Given the description of an element on the screen output the (x, y) to click on. 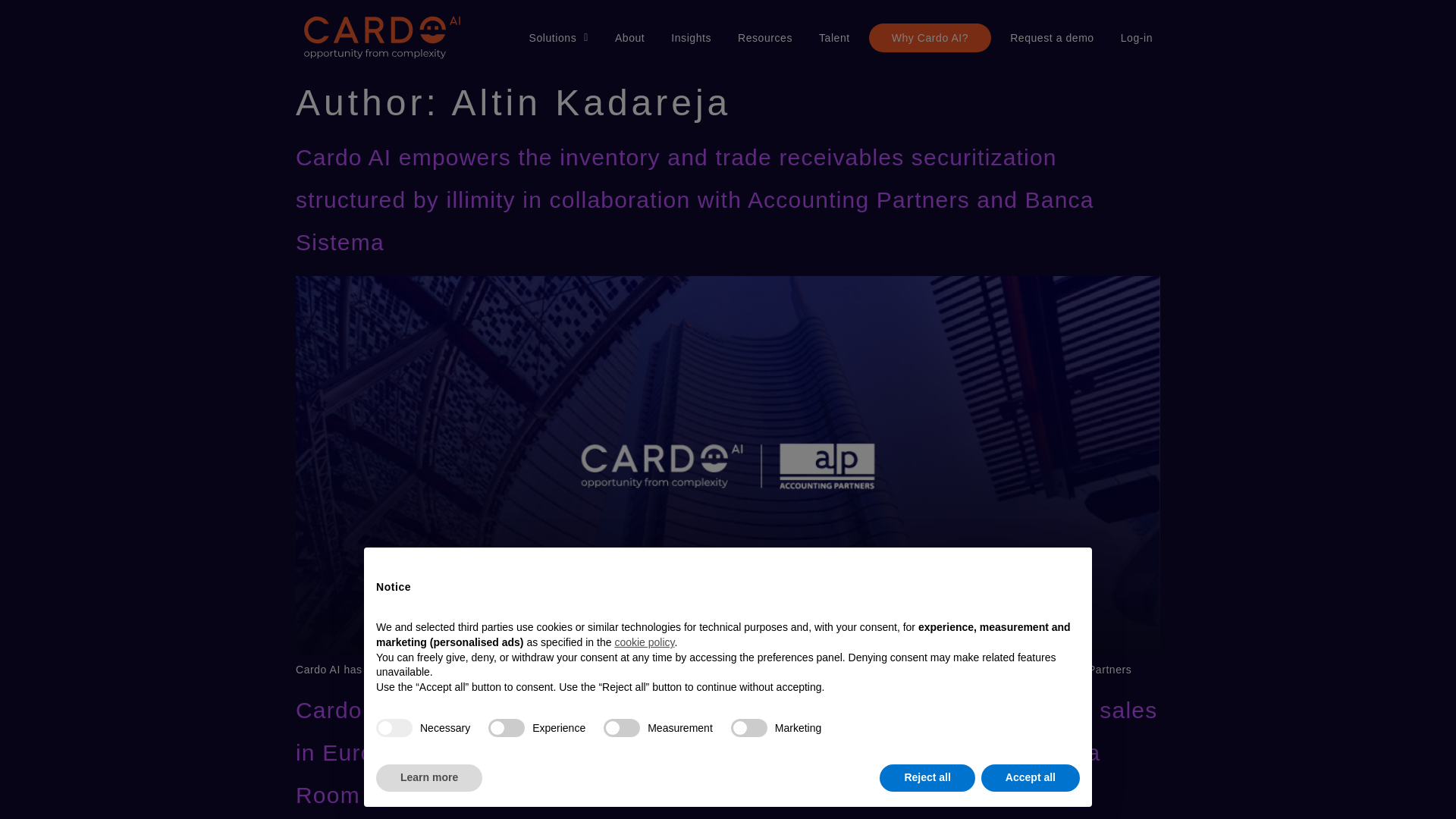
Accept all (1030, 777)
Talent (821, 37)
true (393, 728)
false (505, 728)
Why Cardo AI? (917, 37)
Reject all (926, 777)
About (616, 37)
false (622, 728)
Insights (678, 37)
Solutions (545, 37)
Resources (751, 37)
Request a demo (1039, 37)
Log-in (1123, 37)
cookie policy (644, 642)
